Given the description of an element on the screen output the (x, y) to click on. 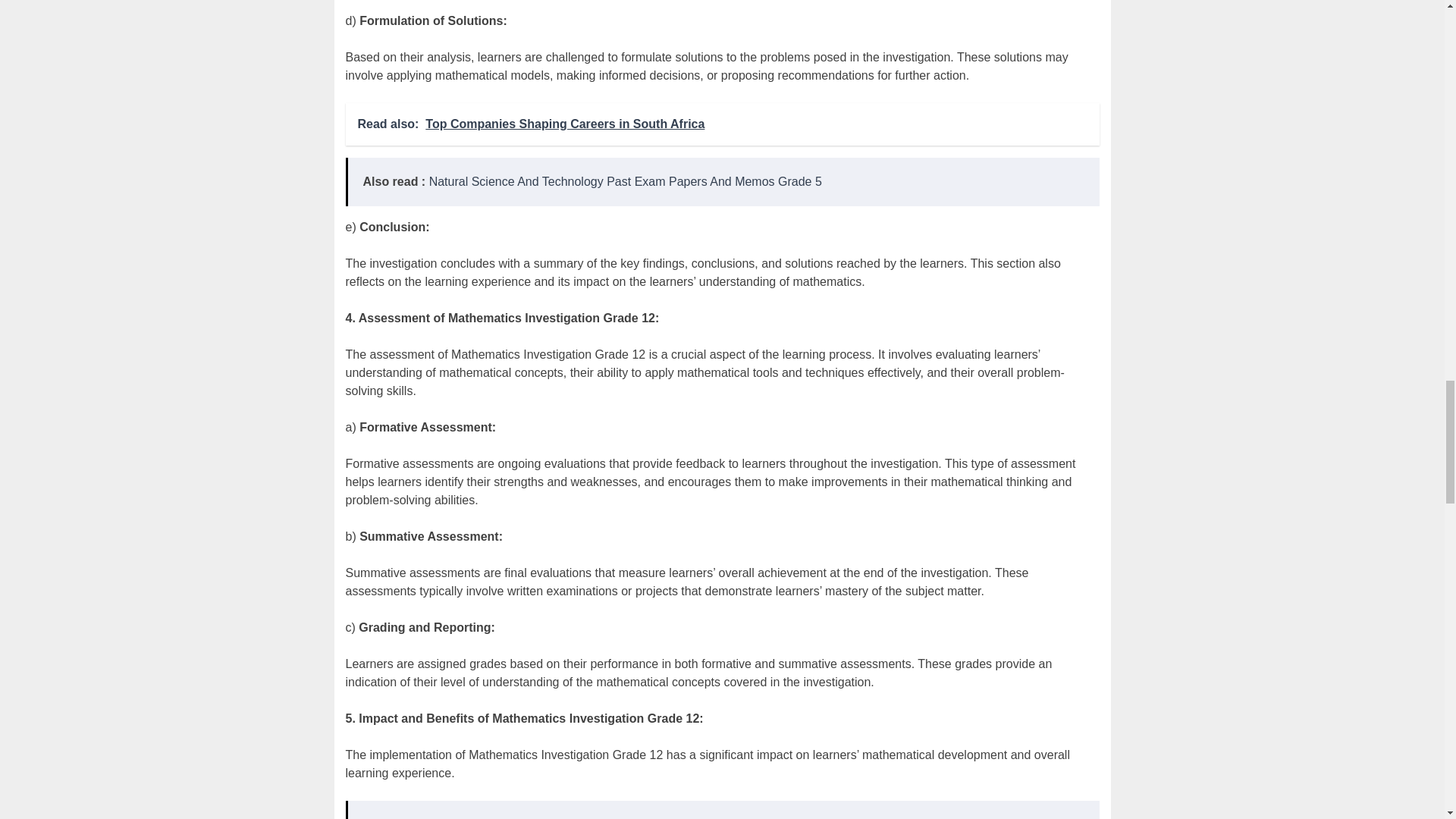
Read also:  Top Companies Shaping Careers in South Africa (722, 124)
